Given the description of an element on the screen output the (x, y) to click on. 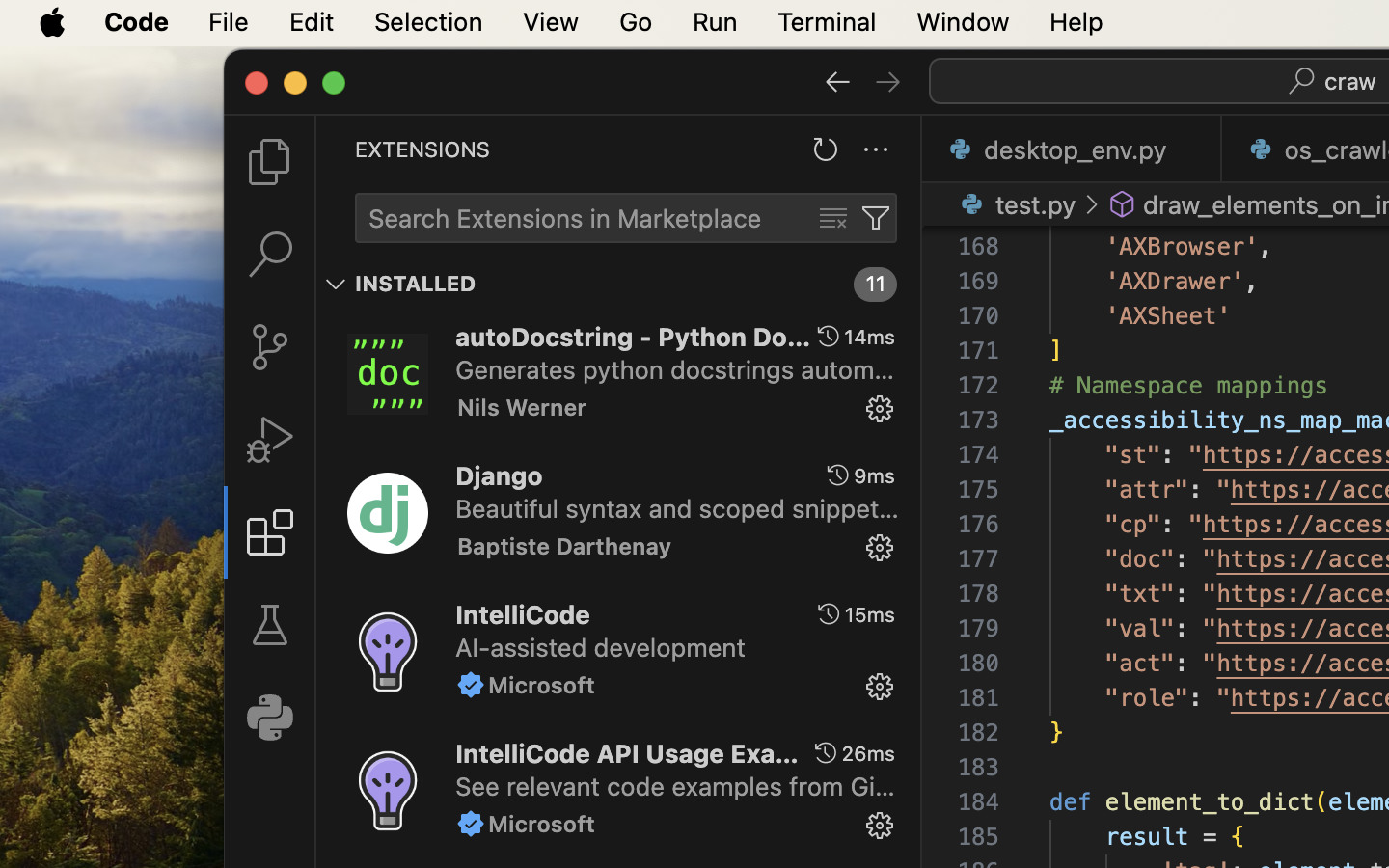
Search Extensions in Marketplace Element type: AXStaticText (565, 218)
 Element type: AXStaticText (470, 684)
0  Element type: AXRadioButton (269, 254)
26ms Element type: AXStaticText (868, 752)
